Given the description of an element on the screen output the (x, y) to click on. 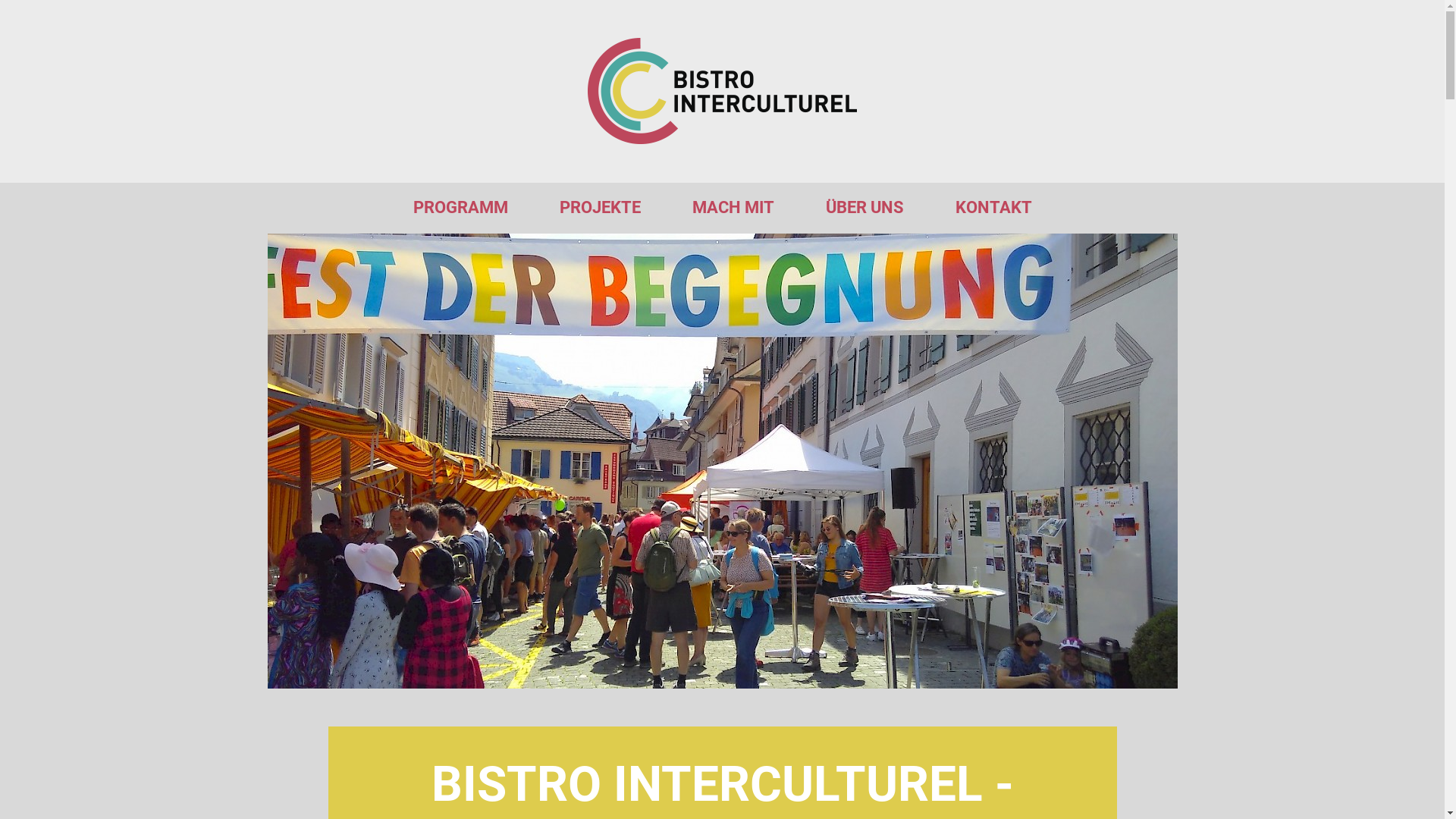
KONTAKT Element type: text (993, 207)
Header Bild Element type: hover (721, 460)
BISTRO INTERCULTUREL - Logo Element type: hover (721, 90)
PROGRAMM Element type: text (459, 207)
PROJEKTE Element type: text (600, 207)
MACH MIT Element type: text (732, 207)
